Given the description of an element on the screen output the (x, y) to click on. 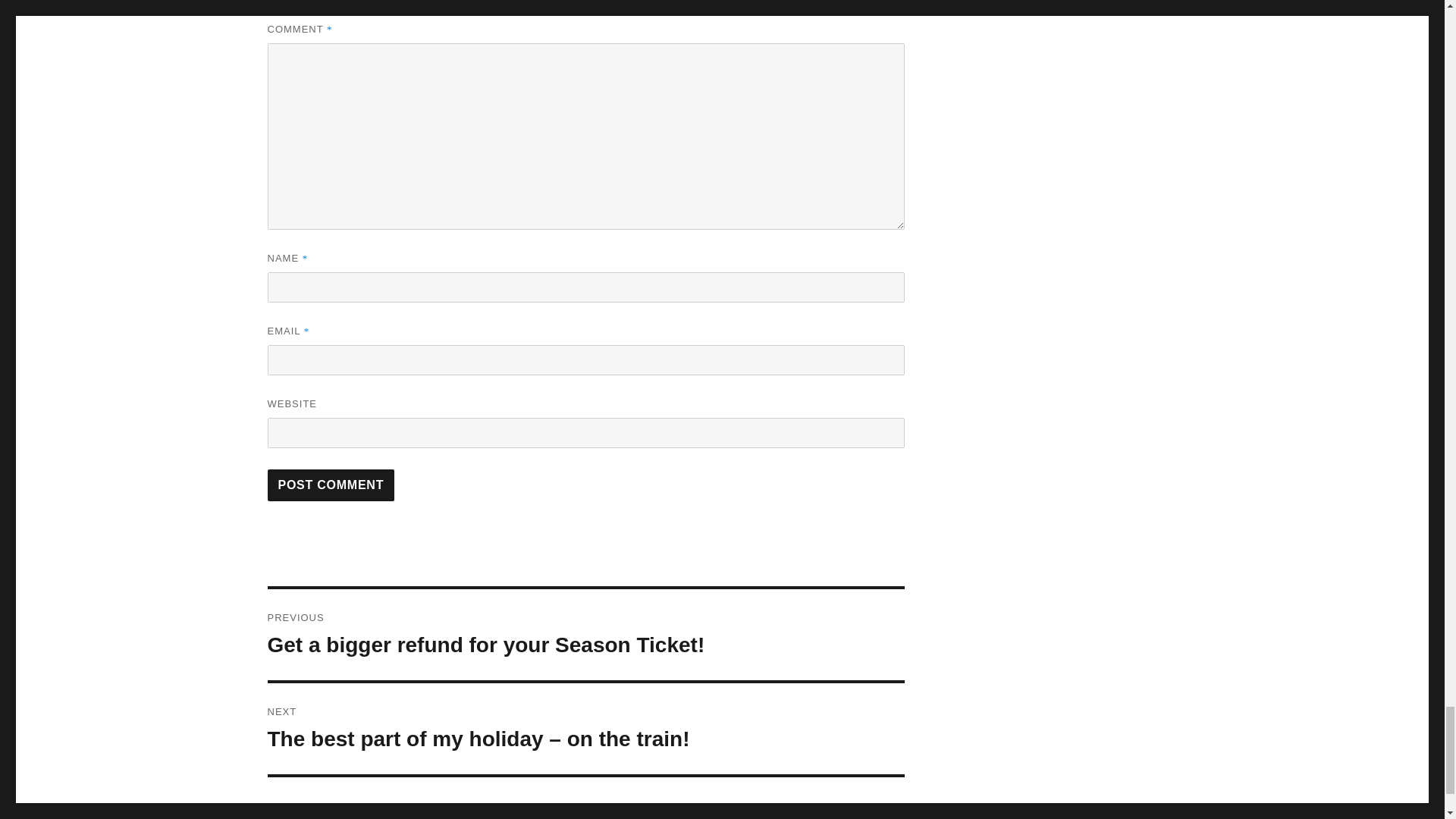
Post Comment (330, 485)
Post Comment (330, 485)
